Given the description of an element on the screen output the (x, y) to click on. 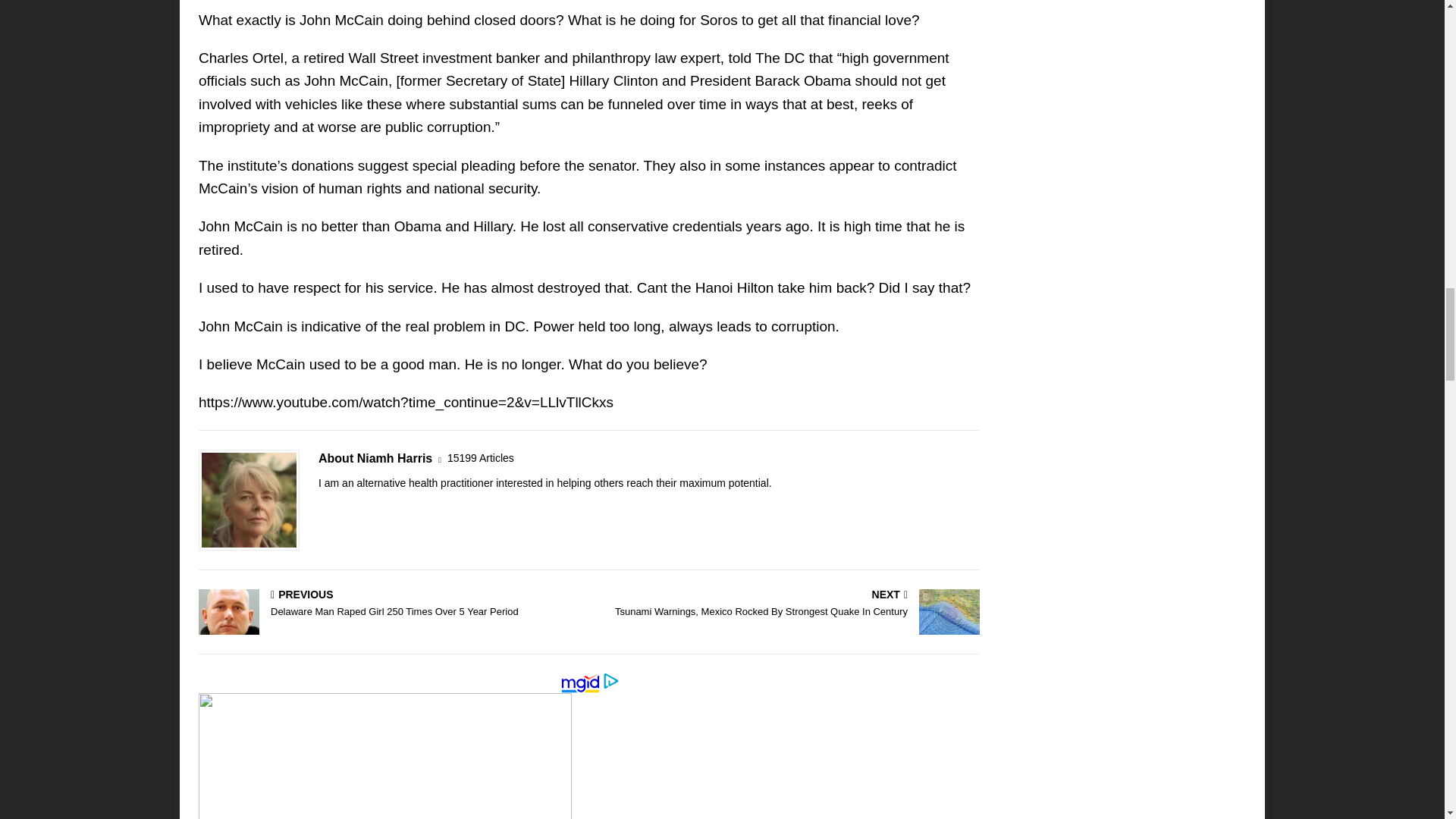
More articles written by Niamh Harris' (479, 458)
